Given the description of an element on the screen output the (x, y) to click on. 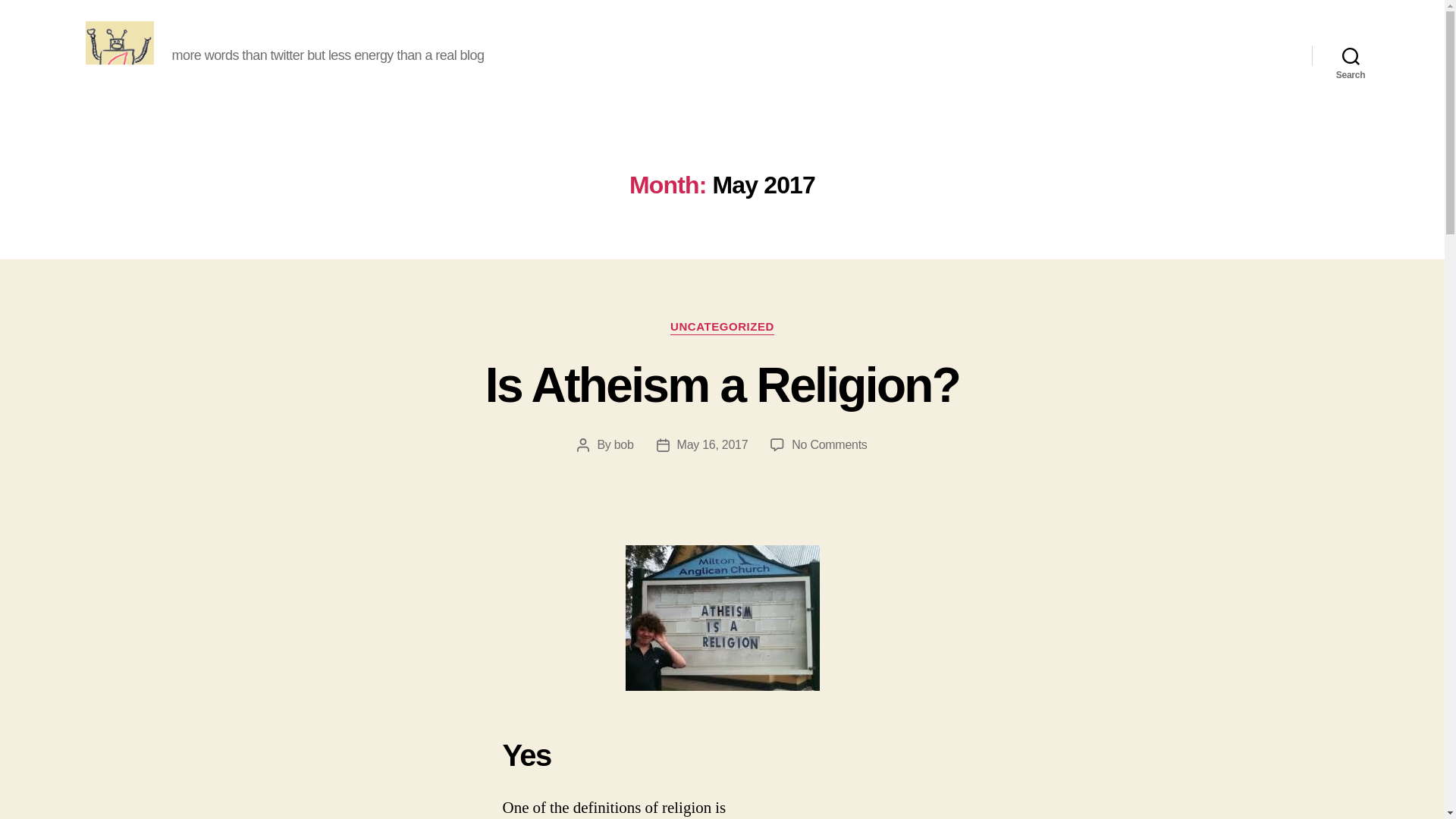
Search (1350, 55)
Is Atheism a Religion? (721, 384)
May 16, 2017 (712, 444)
UNCATEGORIZED (721, 327)
bob (623, 444)
